Given the description of an element on the screen output the (x, y) to click on. 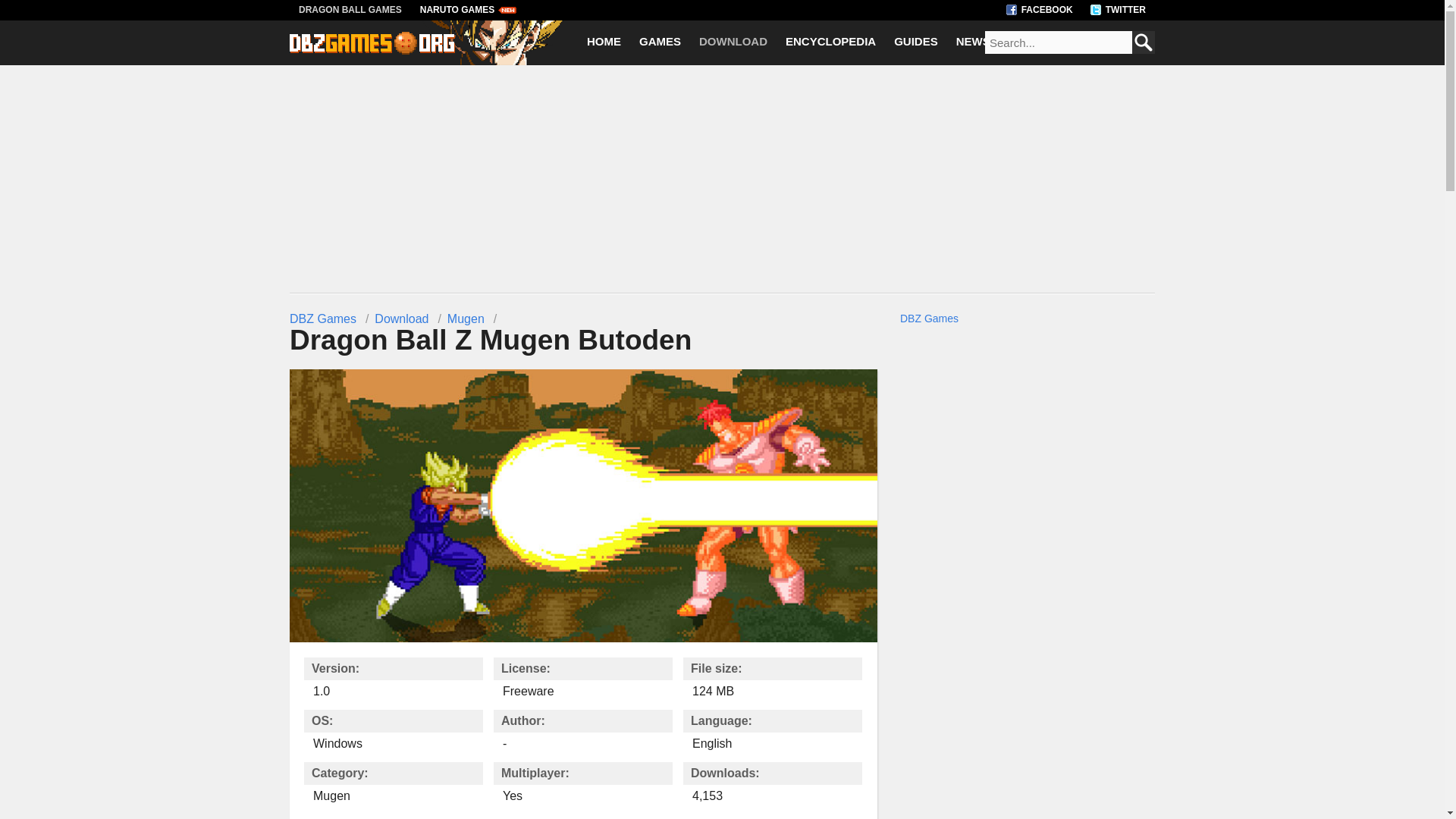
DBZ Games (322, 318)
GAMES (660, 42)
Encyclopedia (830, 42)
GUIDES (916, 42)
Mugen (465, 318)
DBZ Games (322, 318)
Dragon Ball Z Games (371, 50)
Guides (916, 42)
Mugen (465, 318)
Home (604, 42)
